Given the description of an element on the screen output the (x, y) to click on. 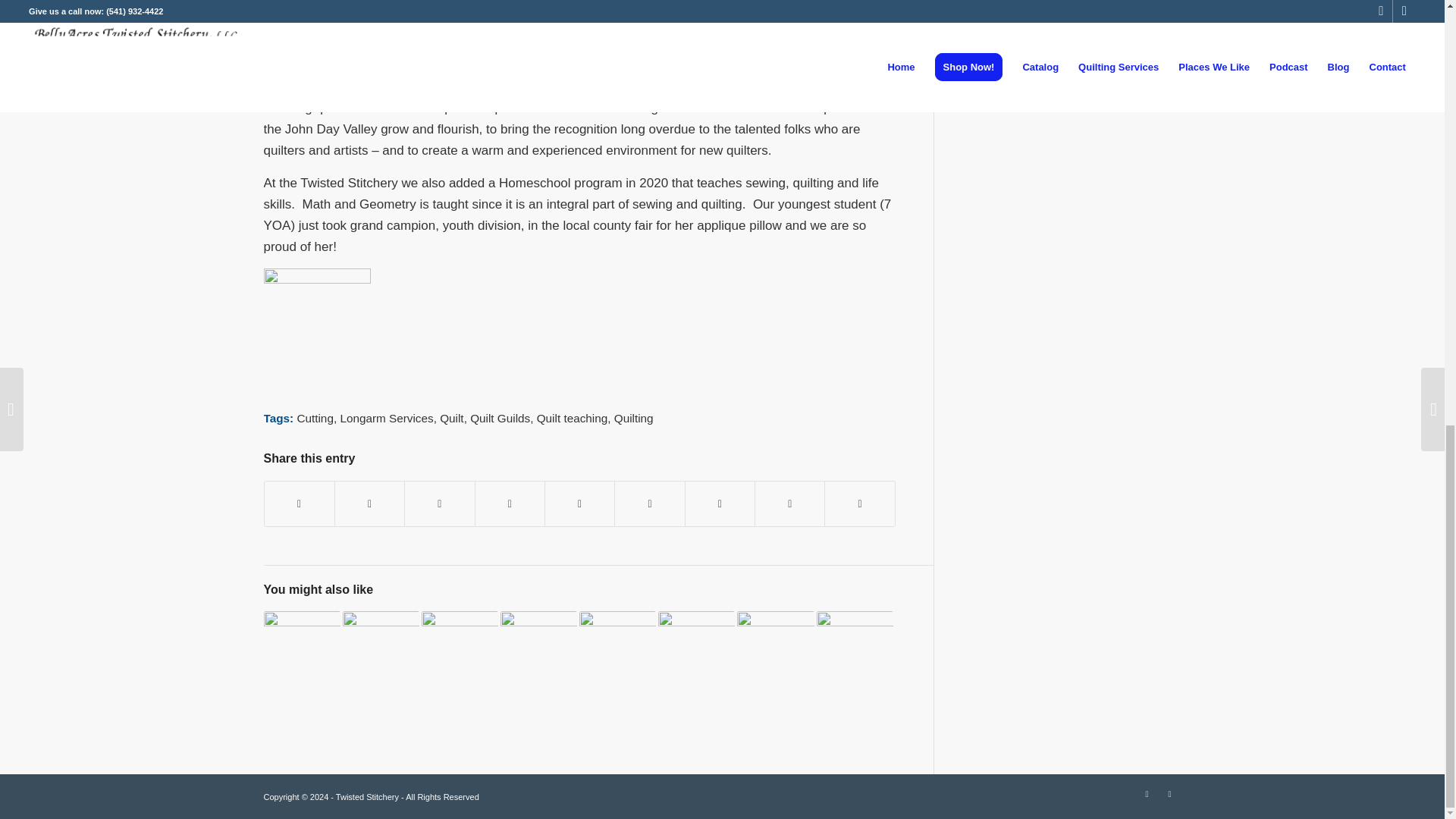
Quilt (451, 418)
Longarm Services (385, 418)
Quilt teaching (572, 418)
Quilt Guilds (499, 418)
Cutting (315, 418)
Quilting (633, 418)
